Given the description of an element on the screen output the (x, y) to click on. 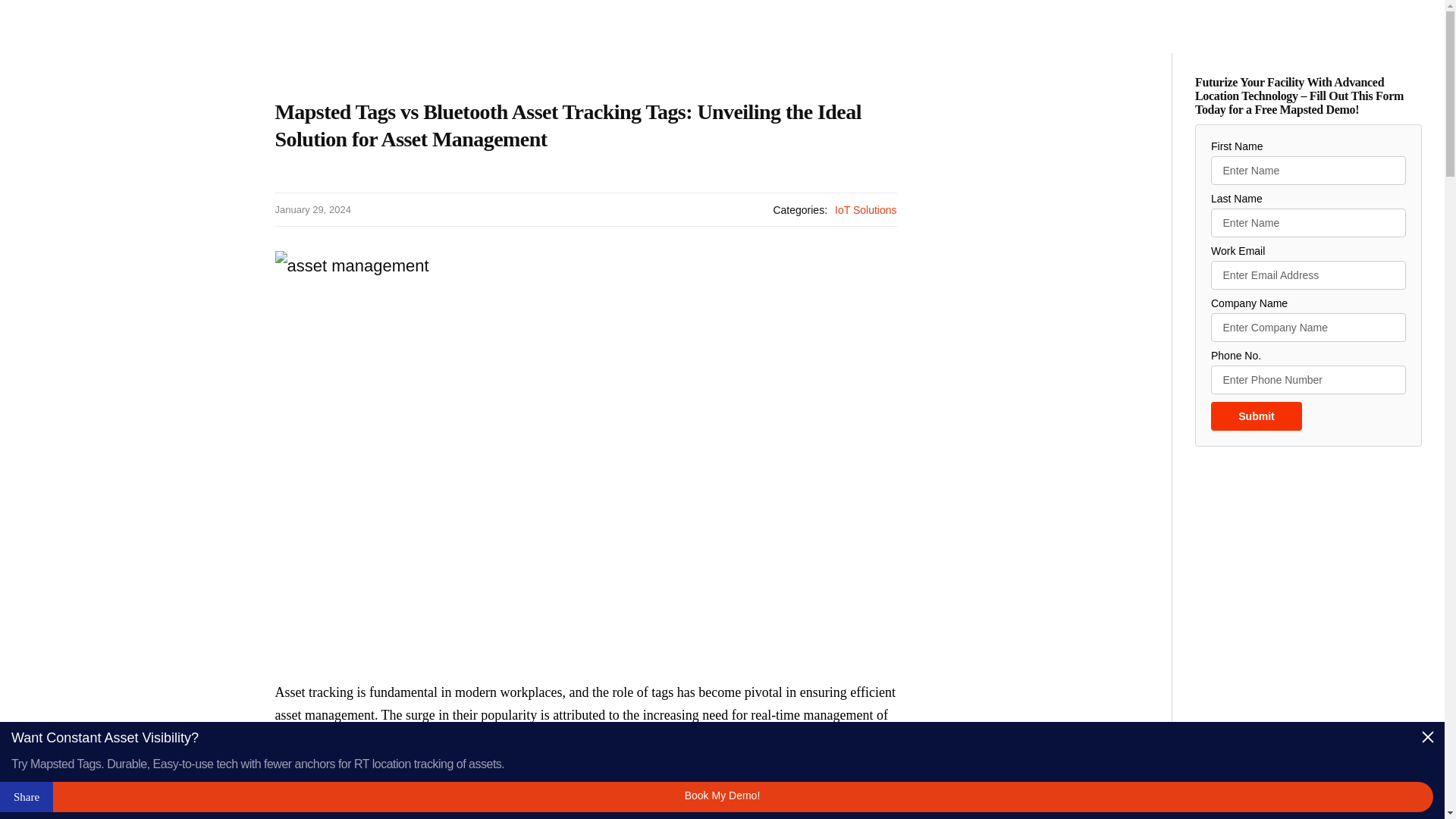
Share (26, 797)
Submit (1256, 416)
Book My Demo! (721, 797)
